Given the description of an element on the screen output the (x, y) to click on. 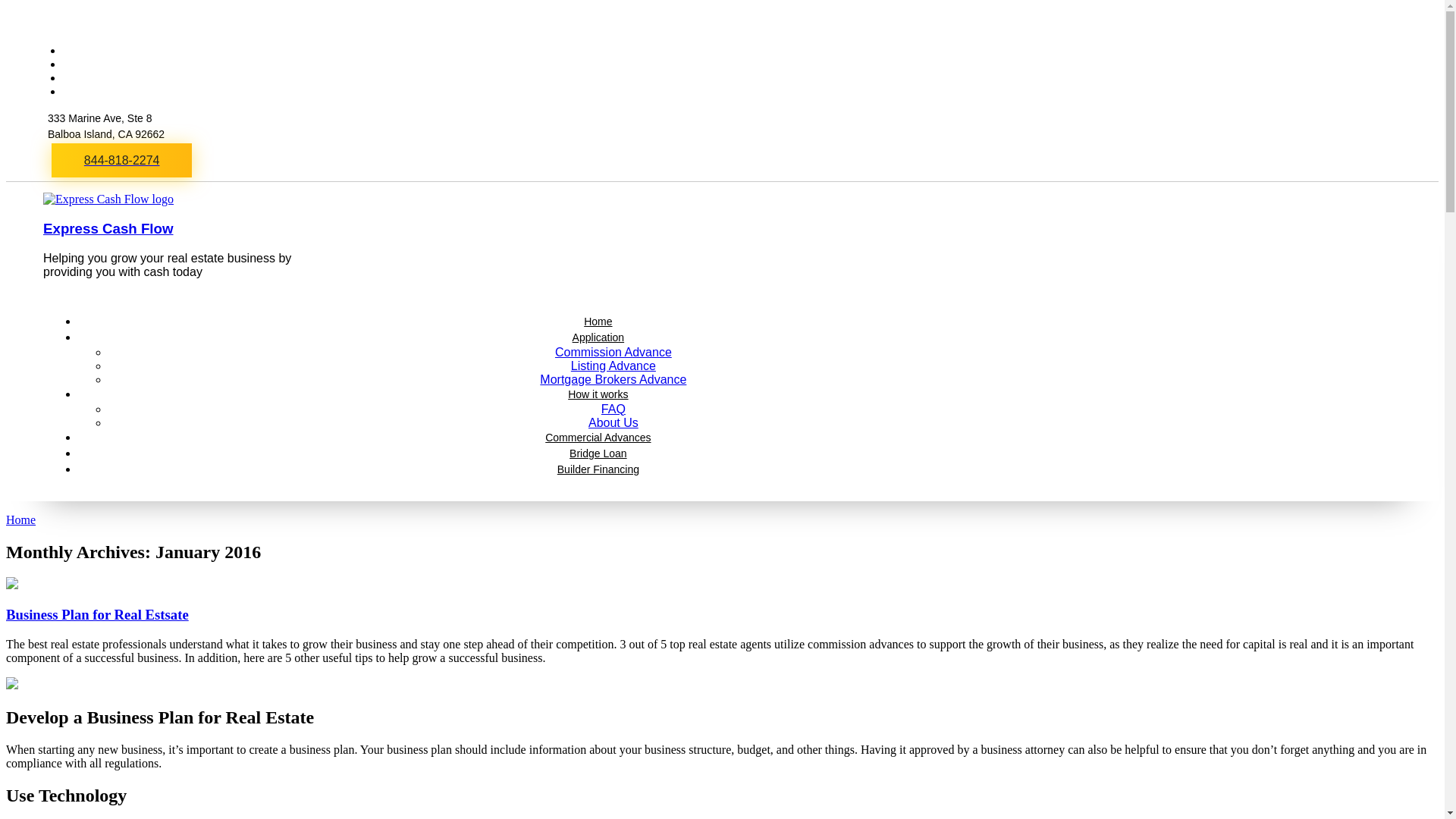
Mortgage Brokers Advance (612, 379)
Application (598, 337)
Builder Financing (598, 469)
Commercial Advances (597, 437)
844-818-2274 (121, 160)
Express Cash Flow (108, 228)
Home (597, 321)
Home (19, 519)
About Us (613, 422)
Commission Advance (612, 351)
